Given the description of an element on the screen output the (x, y) to click on. 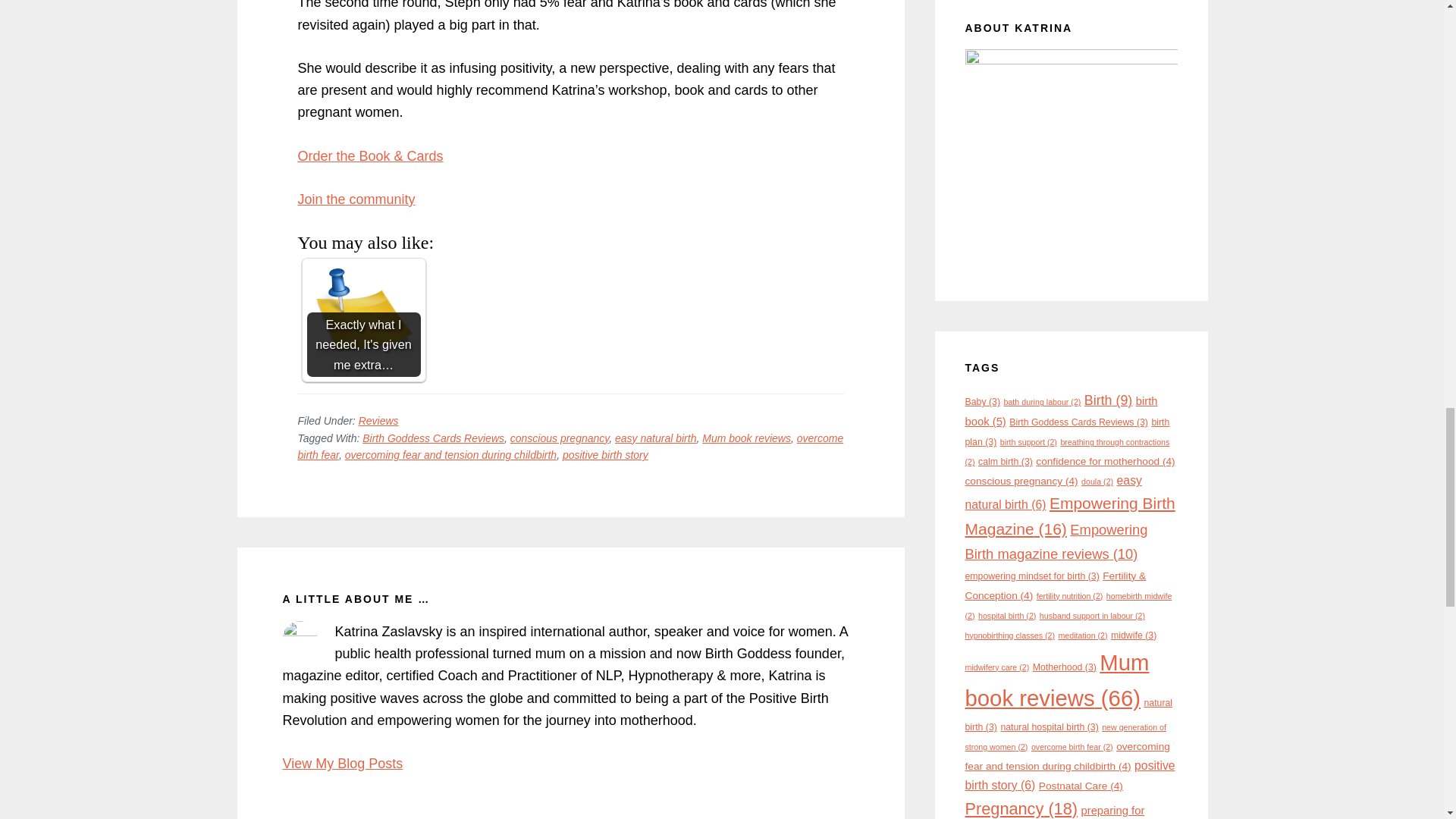
easy natural birth (654, 438)
conscious pregnancy (342, 763)
Birth Goddess Cards Reviews (559, 438)
Join the community (432, 438)
overcoming fear and tension during childbirth (355, 199)
positive birth story (450, 454)
Mum book reviews (604, 454)
overcome birth fear (745, 438)
